Given the description of an element on the screen output the (x, y) to click on. 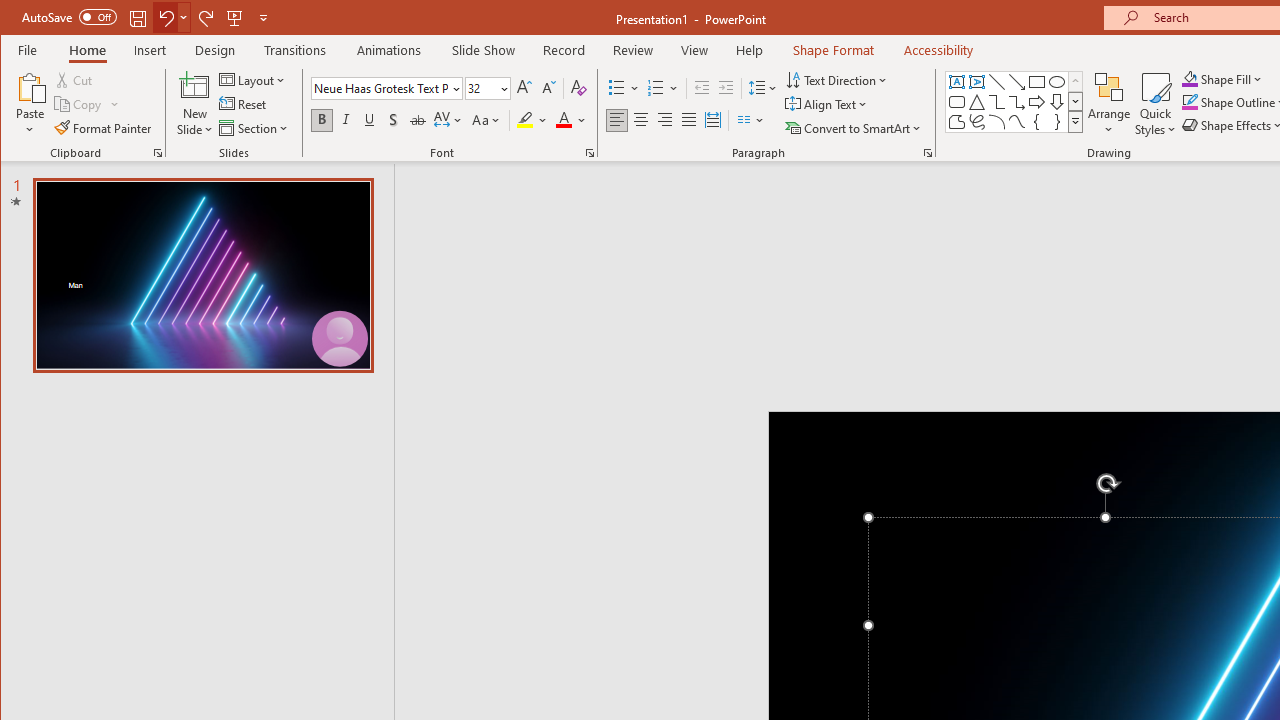
Change Case (486, 119)
Font Color (571, 119)
Row Down (1074, 101)
Section (255, 127)
Curve (1016, 121)
Open (502, 88)
Line Spacing (764, 88)
